Given the description of an element on the screen output the (x, y) to click on. 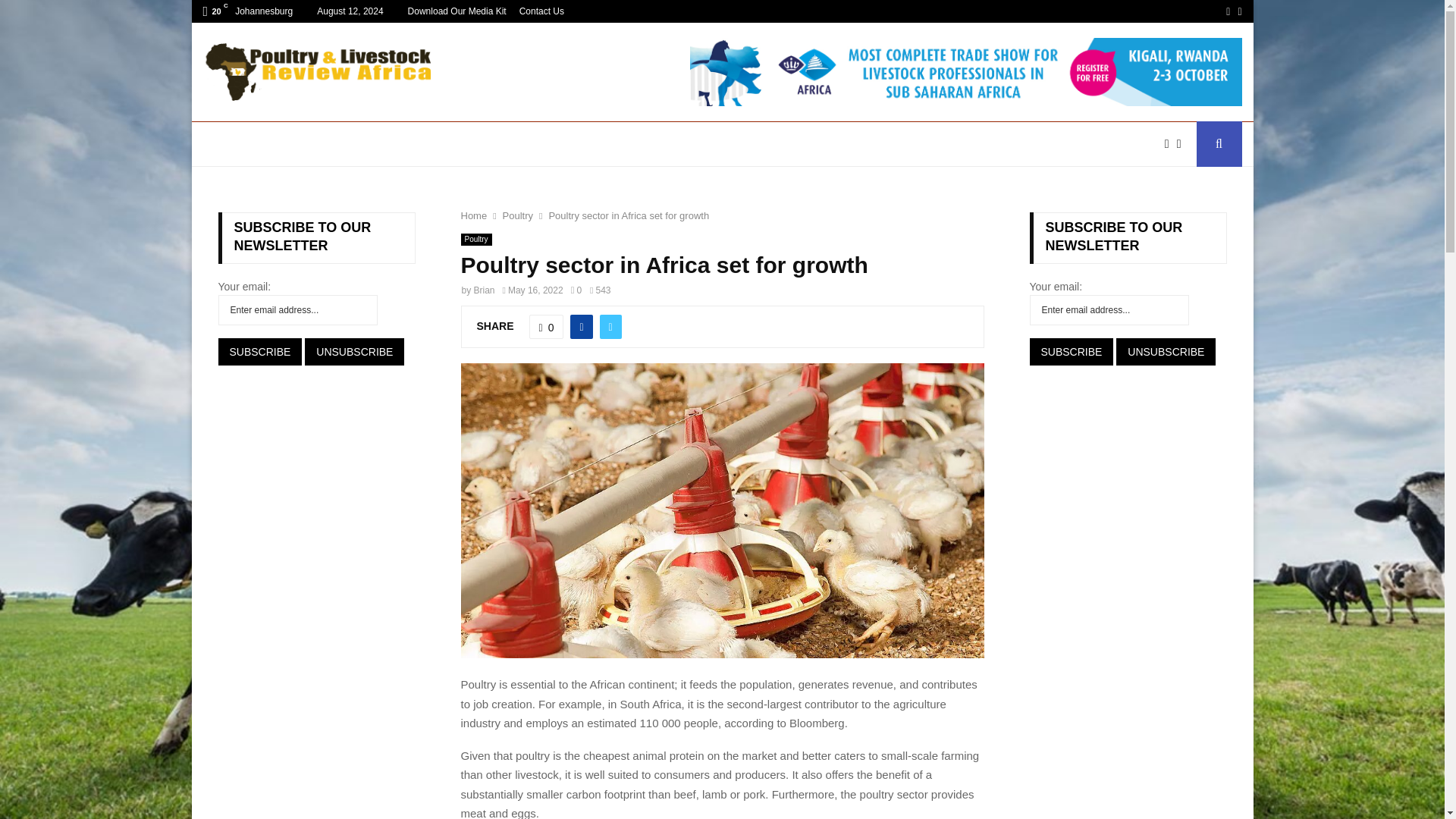
LIVESTOCK (382, 144)
Like (546, 326)
TECHNOLOGY (977, 144)
Home (474, 215)
Unsubscribe (354, 351)
Enter email address... (297, 309)
PROCESSING (796, 144)
Brian (484, 290)
Subscribe (260, 351)
0 (575, 290)
